Given the description of an element on the screen output the (x, y) to click on. 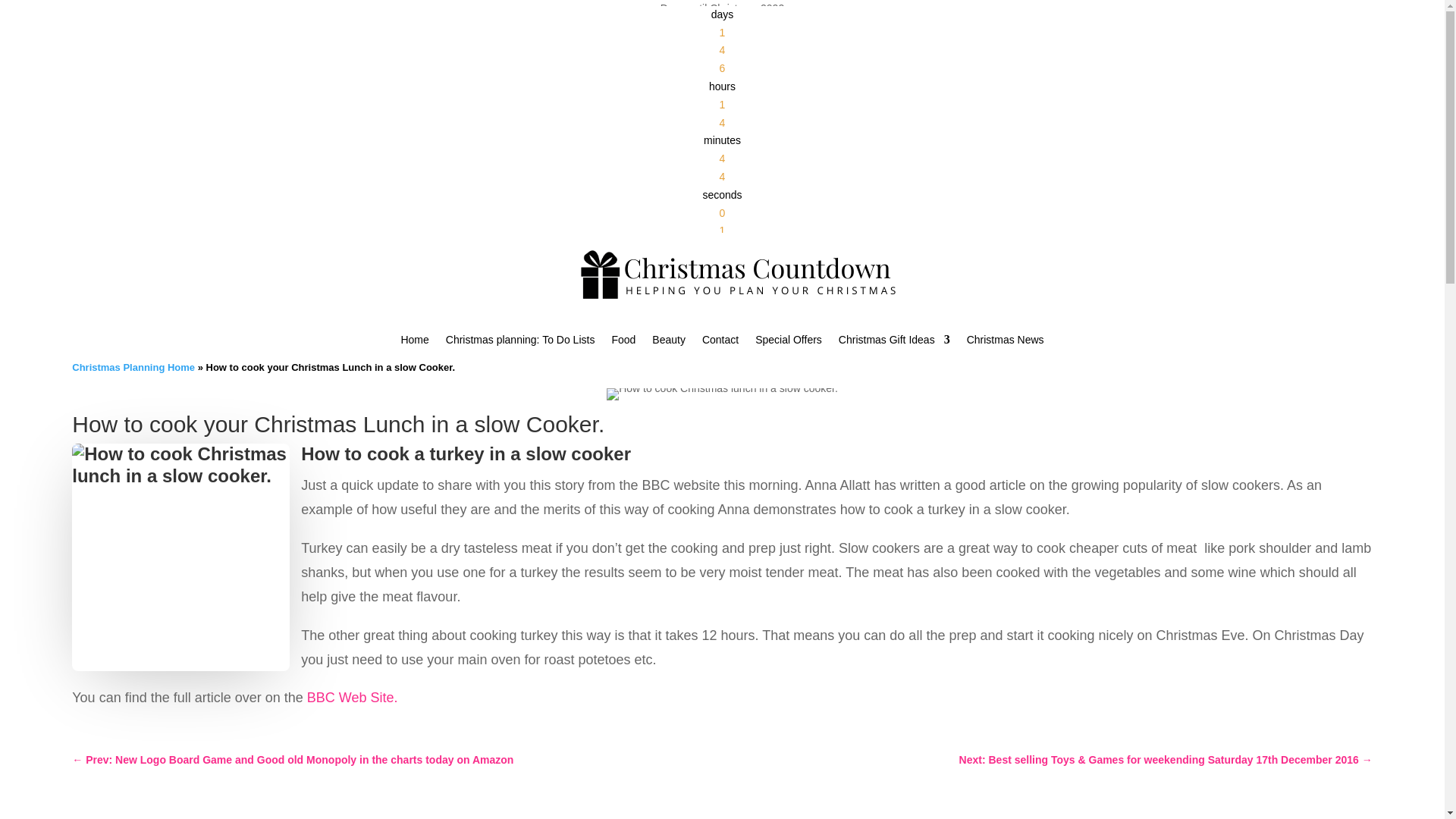
Home (414, 342)
Christmas Planning Home (133, 367)
How to cook Christmas lunch in a slow cooker. (722, 394)
Beauty (668, 342)
Christmas Gift Ideas (894, 342)
Christmas Beauty tips (668, 342)
Food (622, 342)
Contact (719, 342)
BBC Web Site.  (354, 697)
Contact me (719, 342)
Special Offers (788, 342)
Christmas News (1004, 342)
Christmas planning: To Do Lists (520, 342)
Christmas news and events (1004, 342)
